Given the description of an element on the screen output the (x, y) to click on. 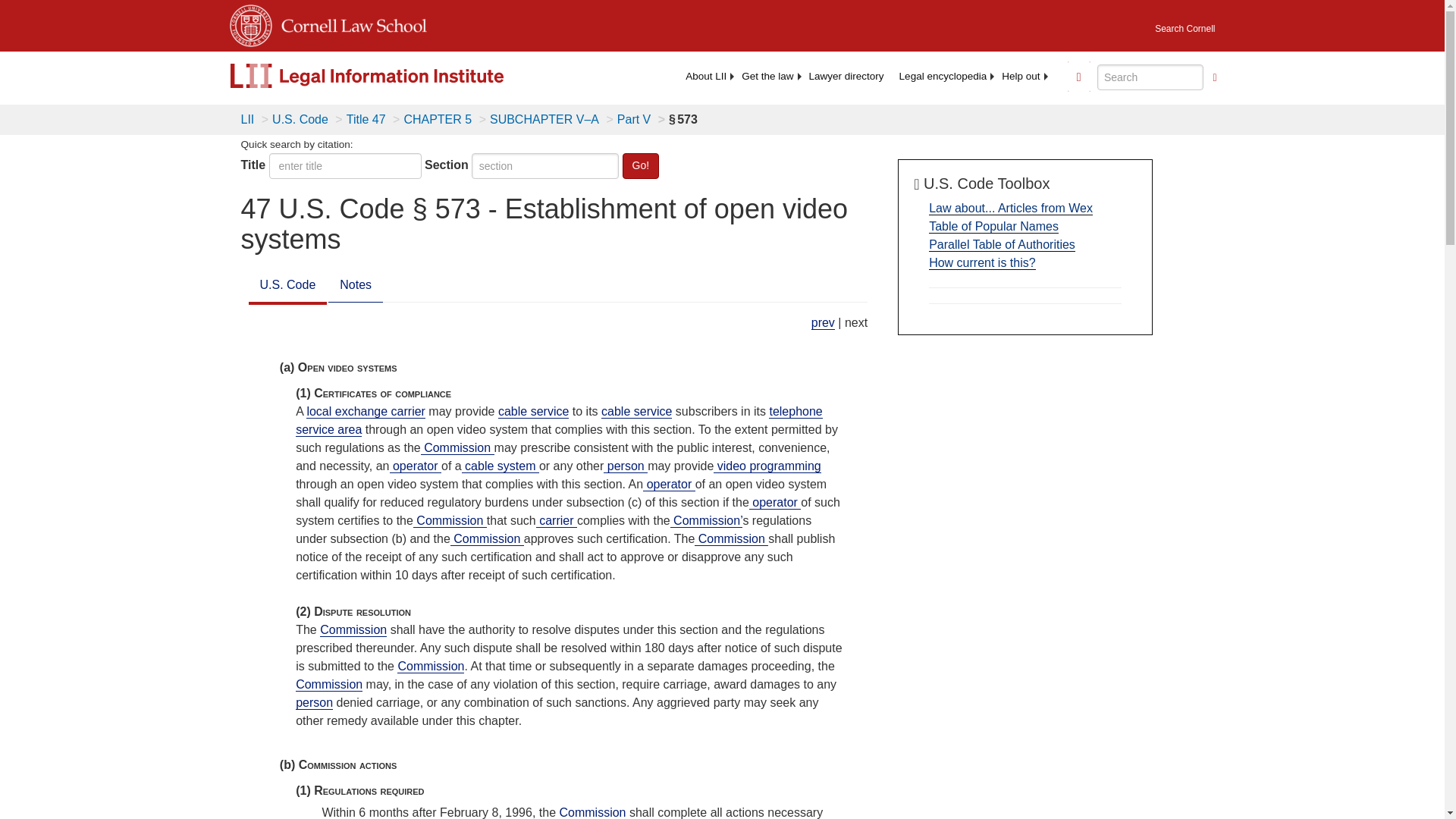
Legal encyclopedia (942, 76)
Get the law (766, 76)
US Code Title number (345, 166)
Search Cornell University (1184, 24)
Cornell University (249, 23)
Search Cornell (1184, 24)
Cornell Law School (348, 23)
About LII (705, 76)
Lawyer directory (846, 76)
 Prohibition on buy outs (822, 323)
